Given the description of an element on the screen output the (x, y) to click on. 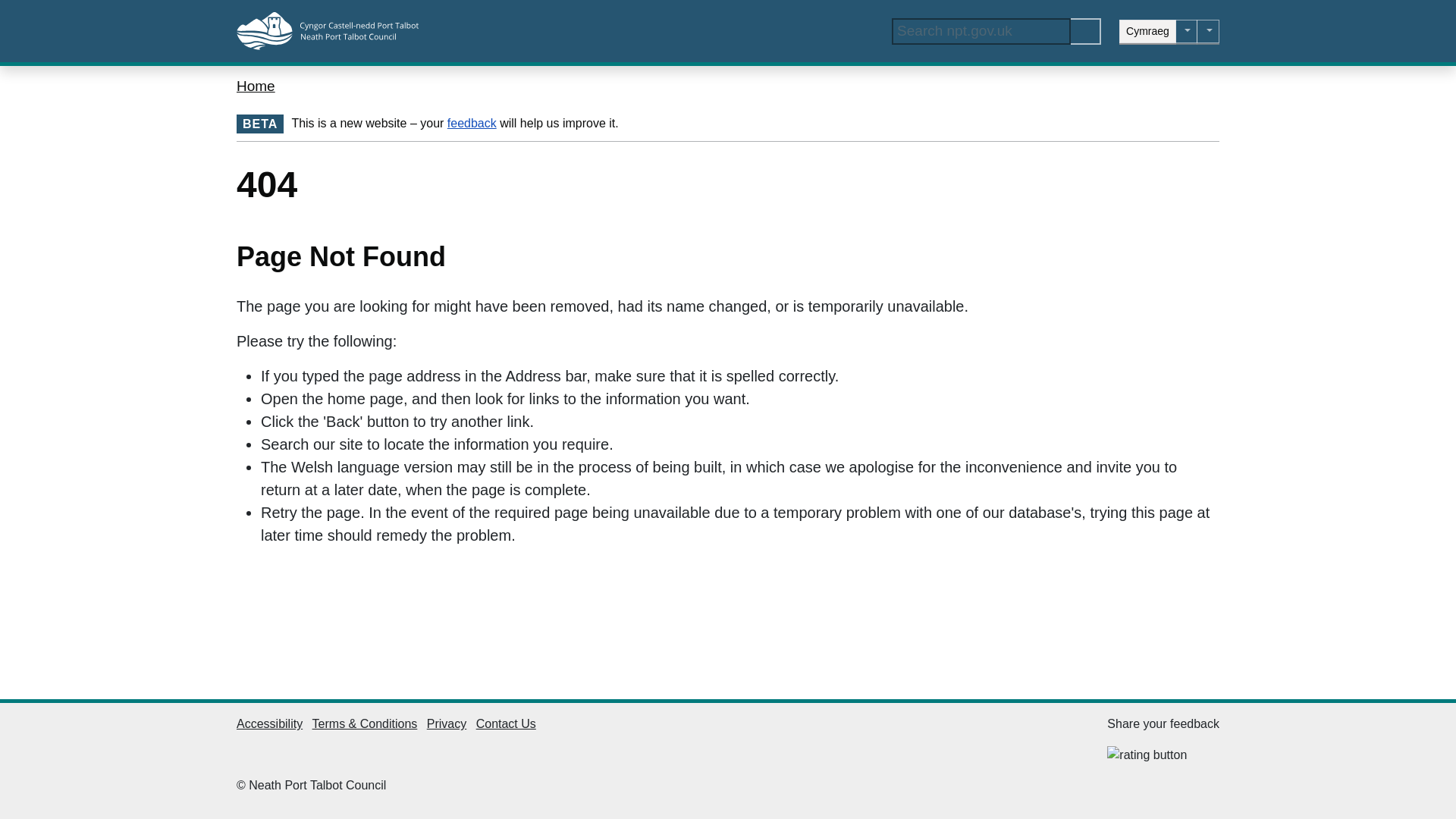
Self Service (1186, 31)
System (1208, 31)
Skip Navigation (11, 7)
Cymraeg (1147, 31)
feedback (471, 123)
Home (255, 85)
